Given the description of an element on the screen output the (x, y) to click on. 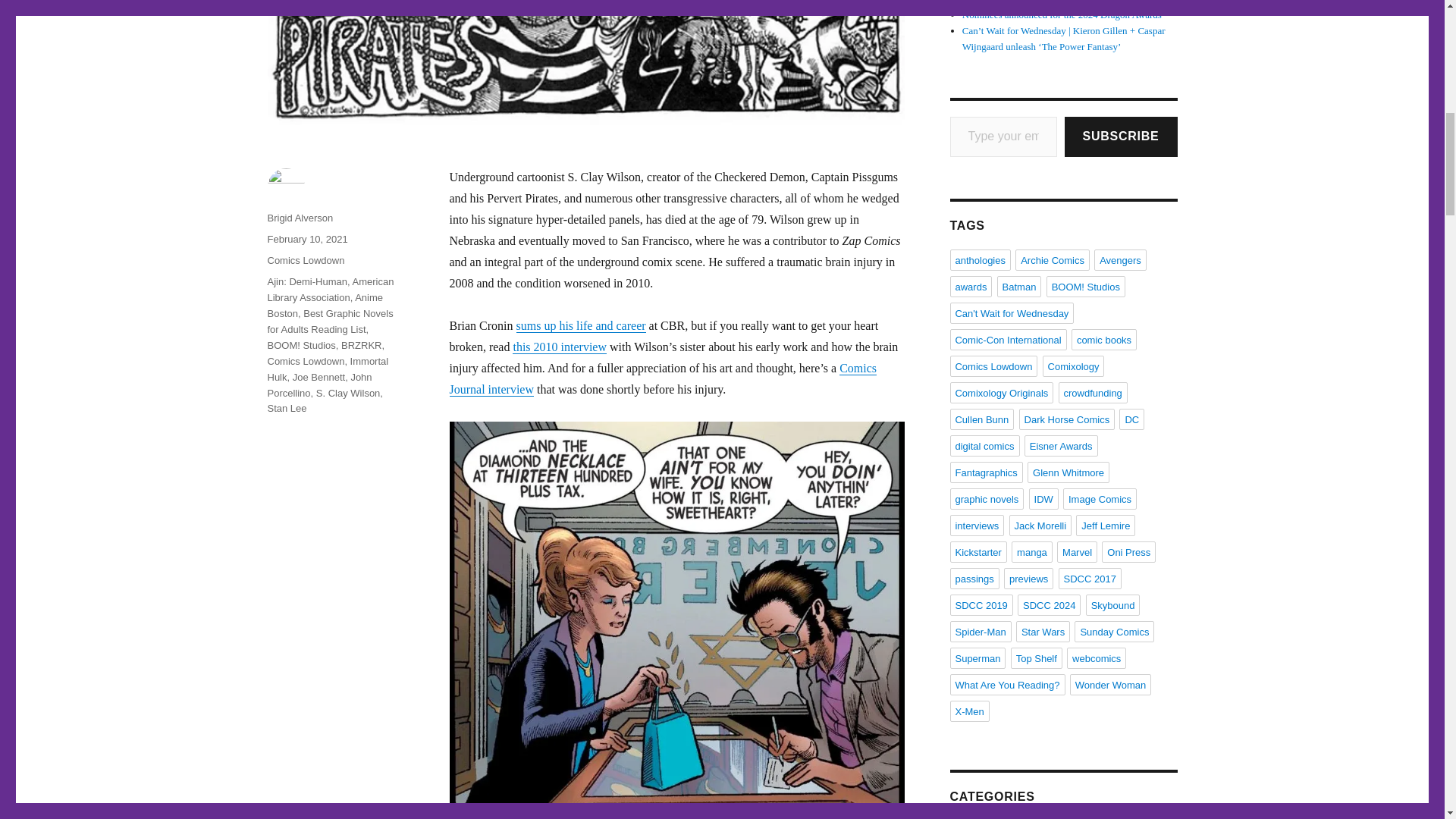
Please fill in this field. (1003, 137)
Comics Journal interview (662, 378)
sums up his life and career (580, 325)
this 2010 interview (559, 346)
